Given the description of an element on the screen output the (x, y) to click on. 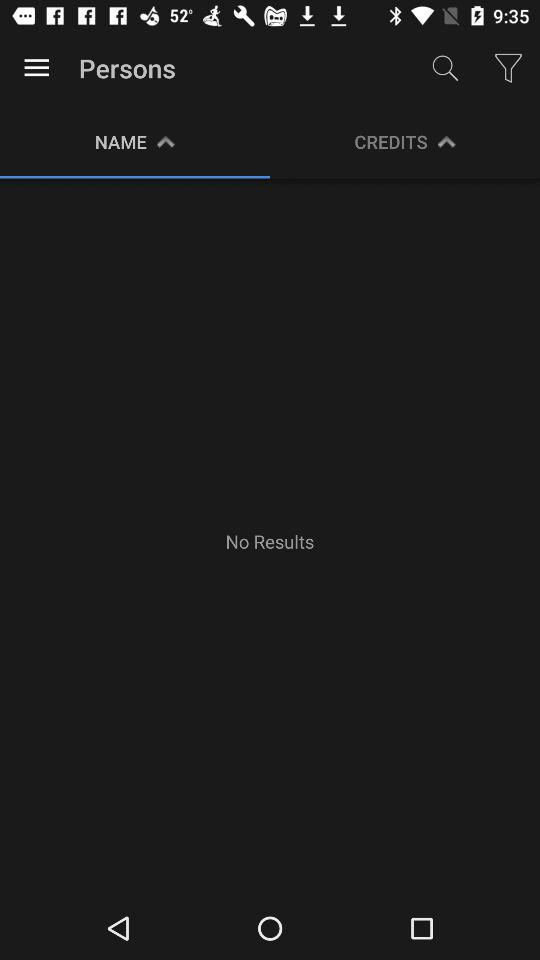
open the app to the right of the persons (444, 67)
